Given the description of an element on the screen output the (x, y) to click on. 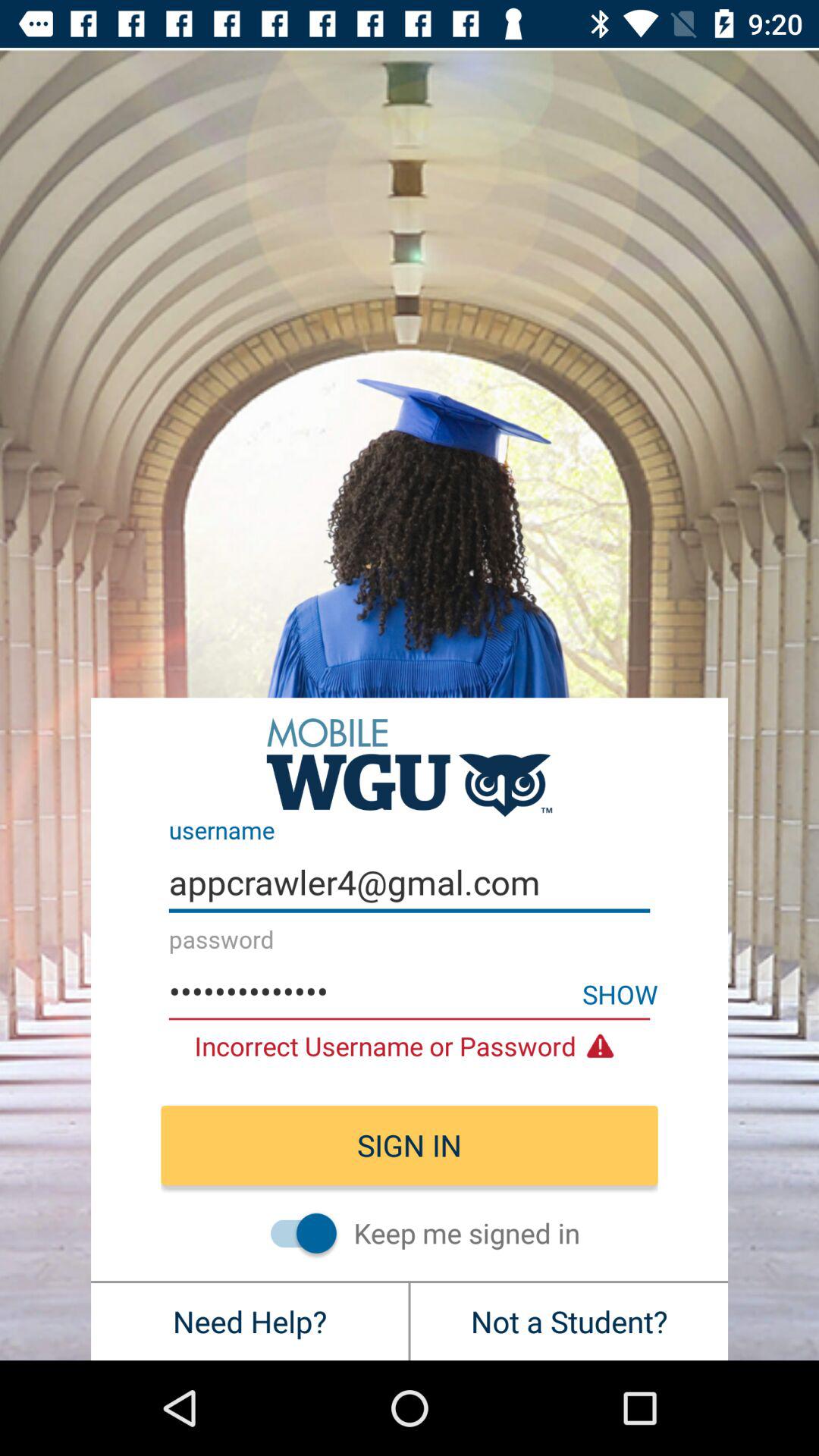
swipe until sign in icon (409, 1145)
